Given the description of an element on the screen output the (x, y) to click on. 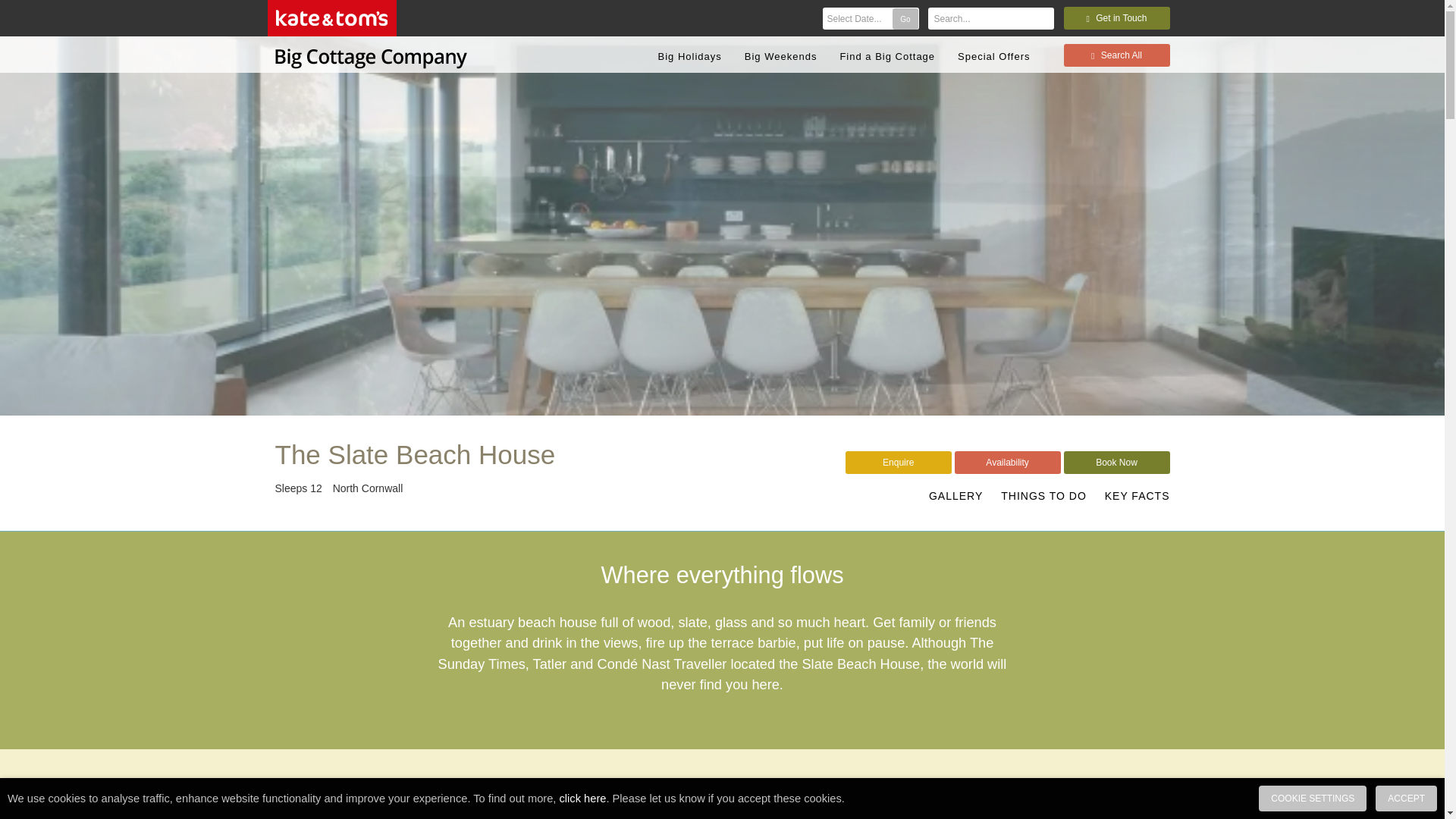
The Big Cottage Company (370, 55)
Find a Big Cottage (885, 56)
Get in Touch (1115, 17)
THINGS TO DO (1043, 495)
Special Offers (992, 56)
KEY FACTS (1137, 495)
Big Holidays (689, 56)
The Slate Beach House (414, 454)
Go (904, 18)
Big Weekends (780, 56)
GALLERY (955, 495)
Search All (1115, 55)
Availability (1008, 462)
Enquire (898, 462)
Book Now (1115, 462)
